Given the description of an element on the screen output the (x, y) to click on. 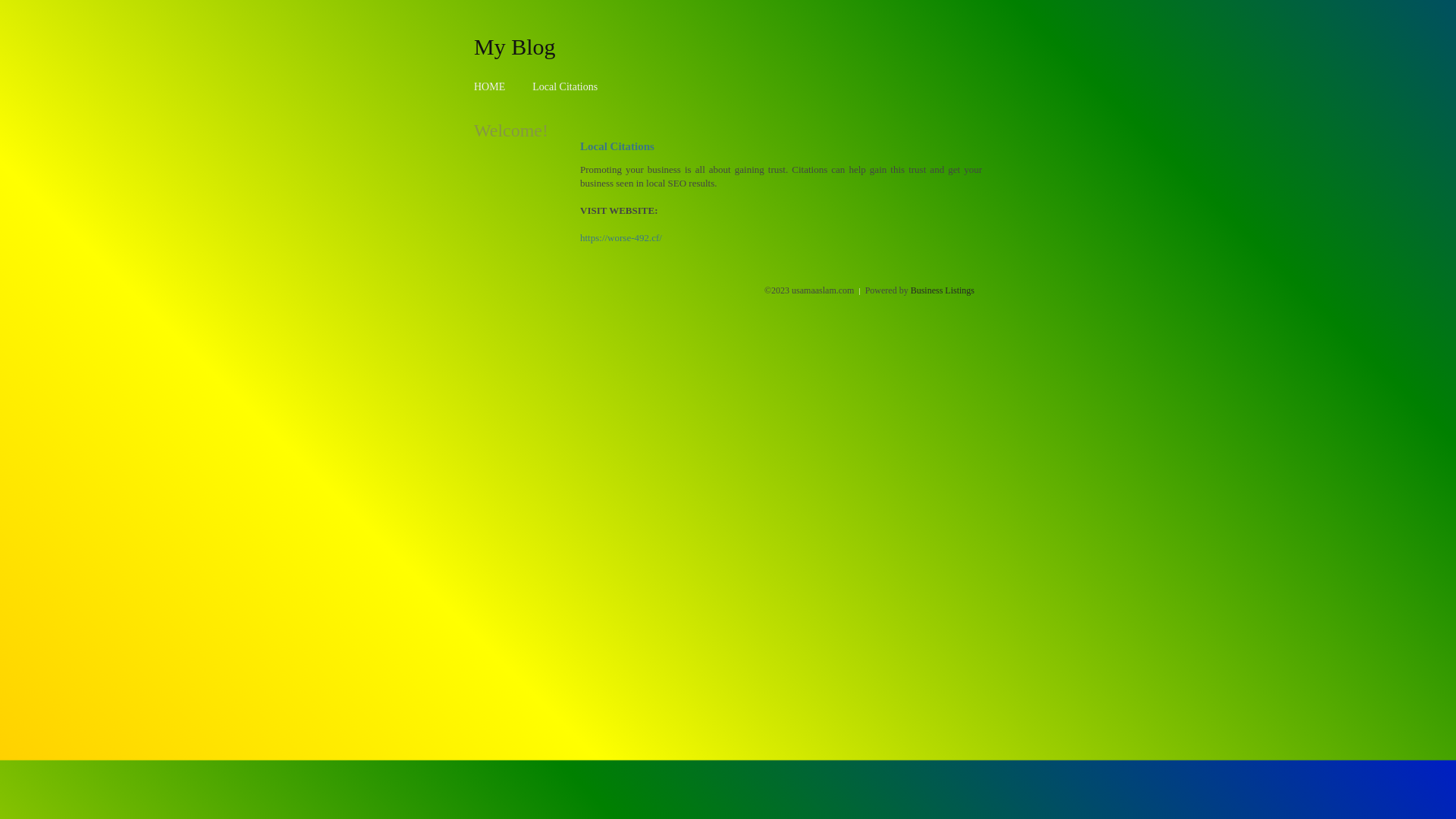
HOME Element type: text (489, 86)
Local Citations Element type: text (564, 86)
Business Listings Element type: text (942, 290)
https://worse-492.cf/ Element type: text (621, 237)
My Blog Element type: text (514, 46)
